Given the description of an element on the screen output the (x, y) to click on. 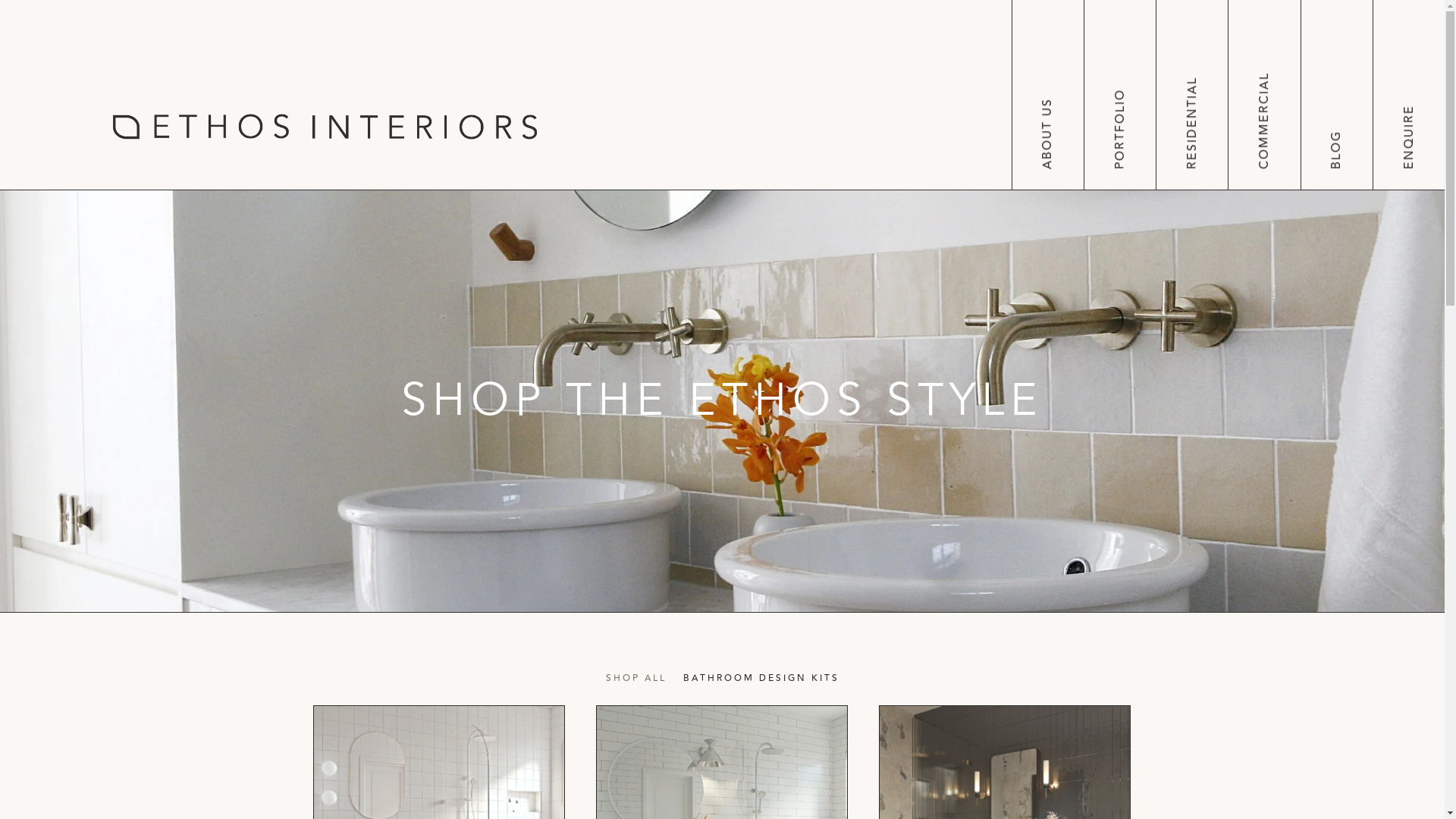
SHOP ALL Element type: text (635, 681)
Ethos Interiors_Logo Element type: hover (324, 126)
BATHROOM DESIGN KITS Element type: text (760, 681)
